Given the description of an element on the screen output the (x, y) to click on. 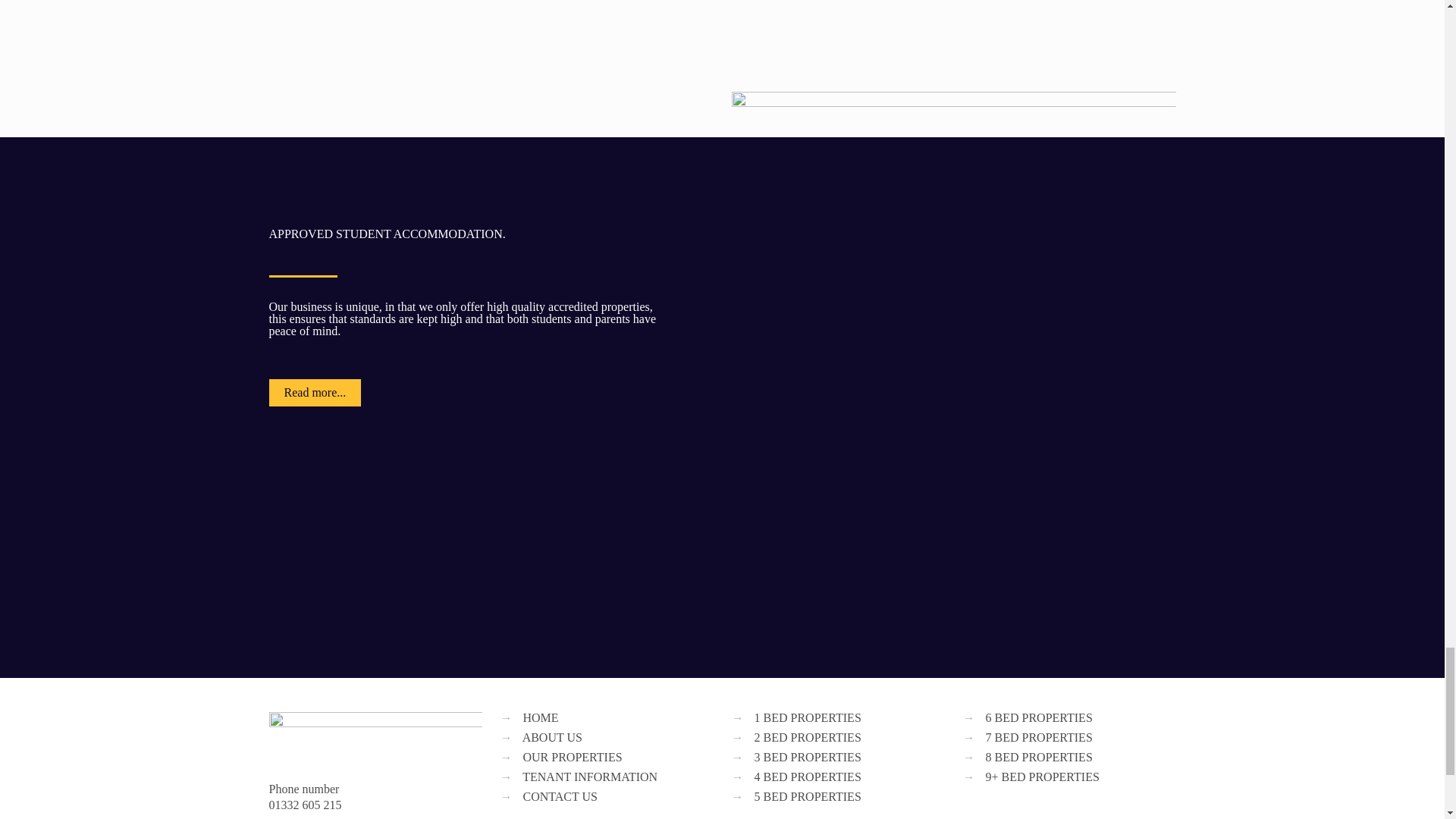
ABOUT US (552, 737)
TENANT INFORMATION (590, 776)
Read more... (314, 392)
3 BED PROPERTIES (807, 757)
CONTACT US (559, 796)
4 BED PROPERTIES (807, 776)
HOME (540, 717)
1 BED PROPERTIES (807, 717)
2 BED PROPERTIES (807, 737)
01332 605 215 (303, 804)
